Given the description of an element on the screen output the (x, y) to click on. 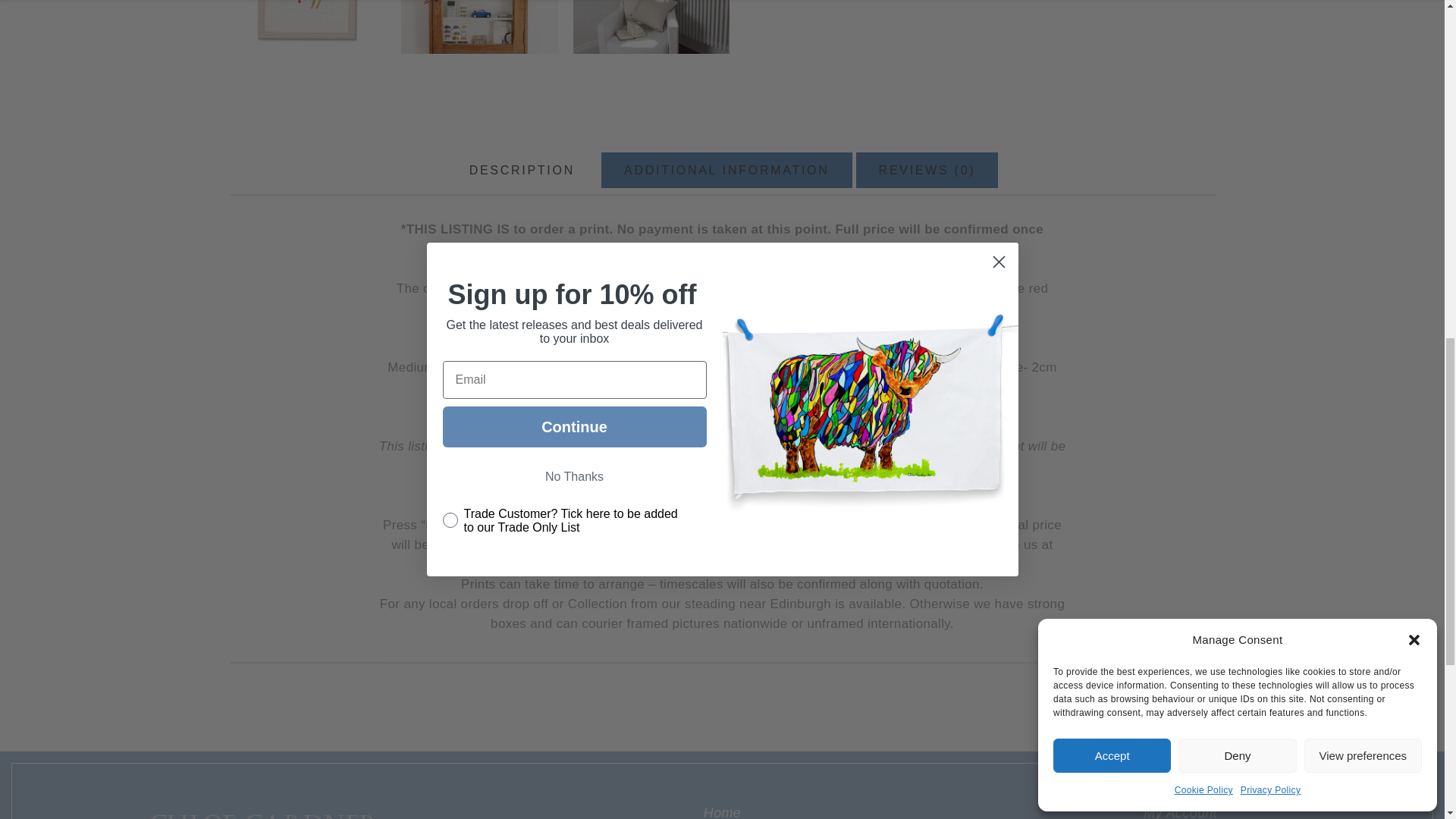
print leaf hares natural frame product image (306, 27)
